Given the description of an element on the screen output the (x, y) to click on. 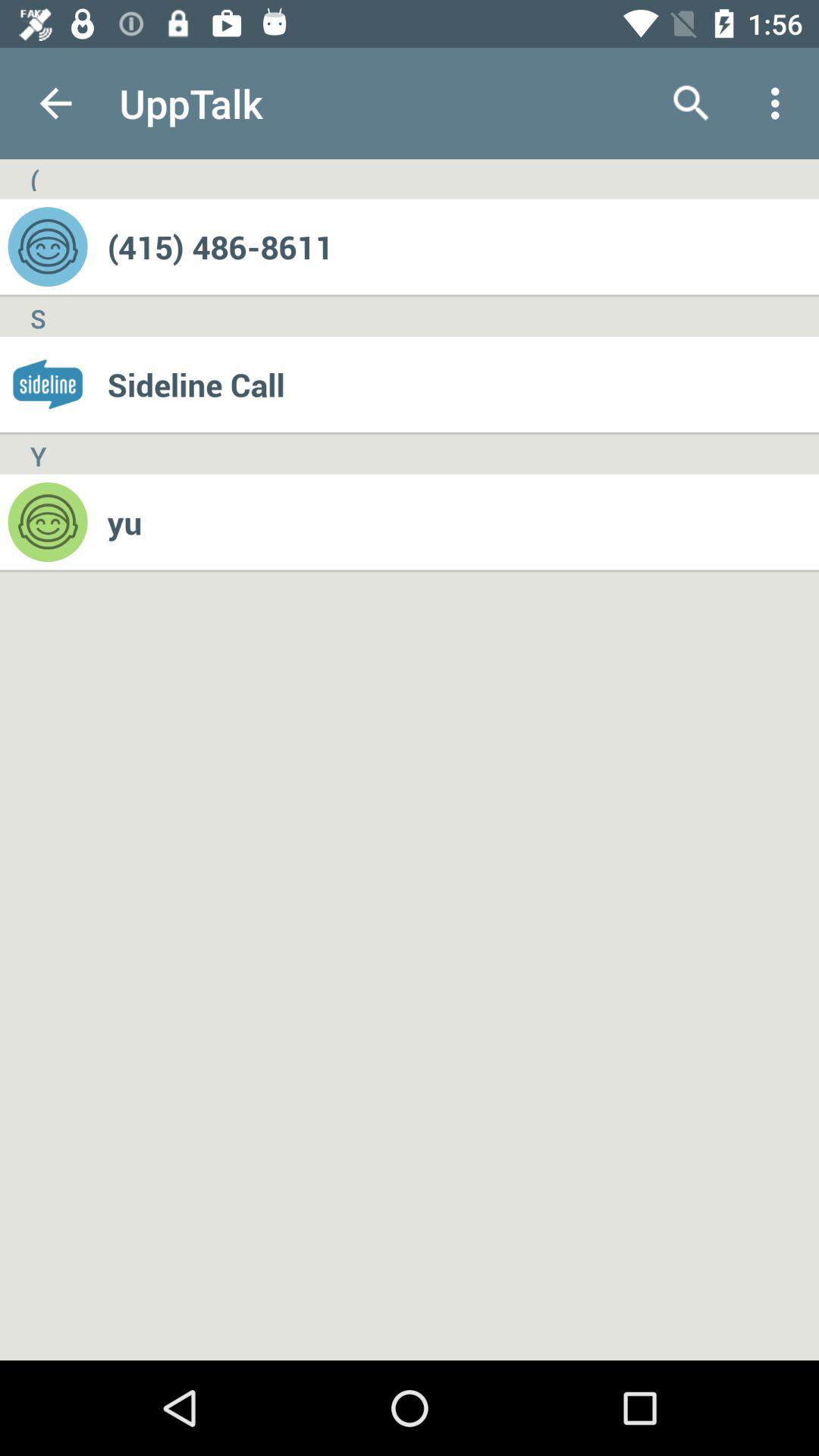
flip until ( icon (34, 179)
